Given the description of an element on the screen output the (x, y) to click on. 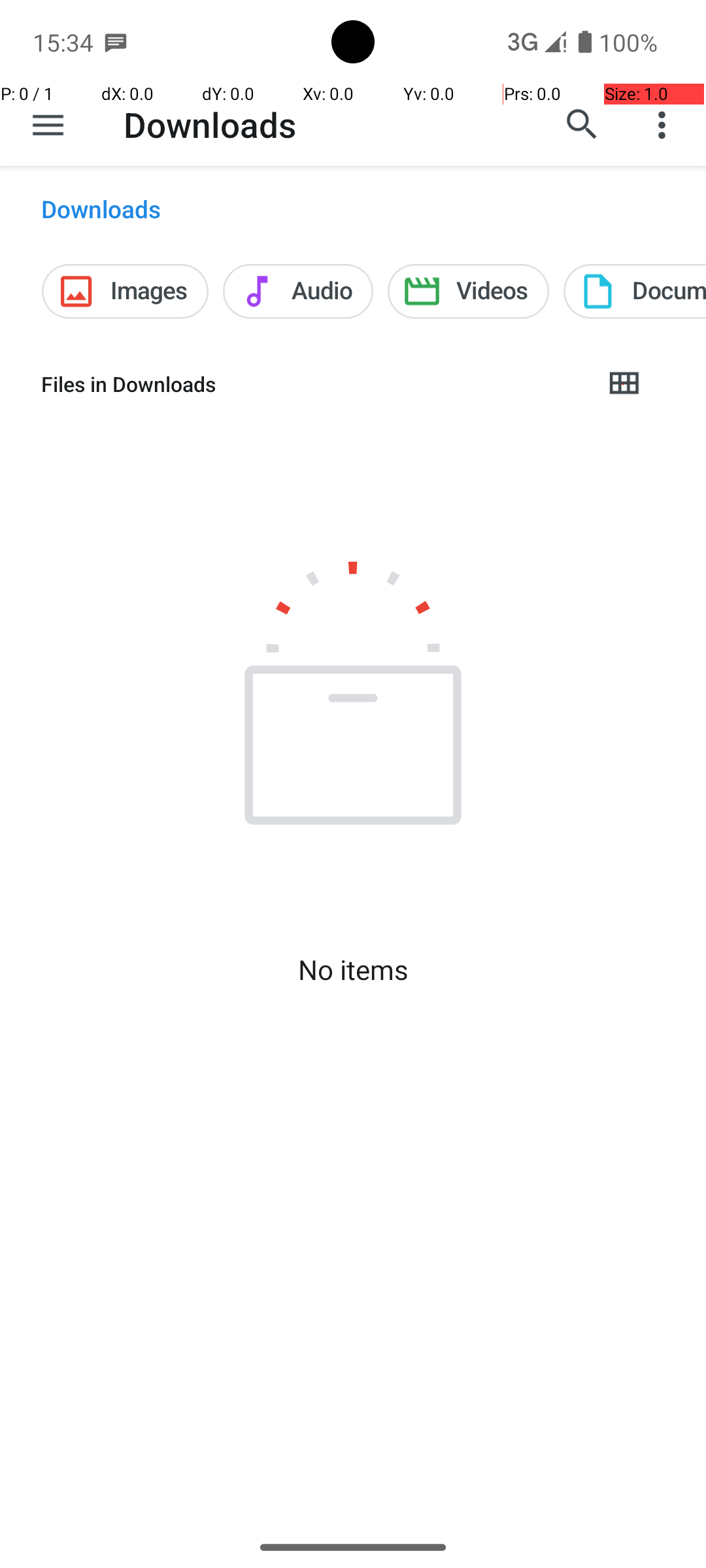
Downloads Element type: android.widget.TextView (209, 124)
Files in Downloads Element type: android.widget.TextView (311, 383)
Grid view Element type: android.widget.TextView (622, 384)
Videos Element type: android.widget.CompoundButton (468, 291)
Documents Element type: android.widget.CompoundButton (634, 291)
No items Element type: android.widget.TextView (353, 968)
